Given the description of an element on the screen output the (x, y) to click on. 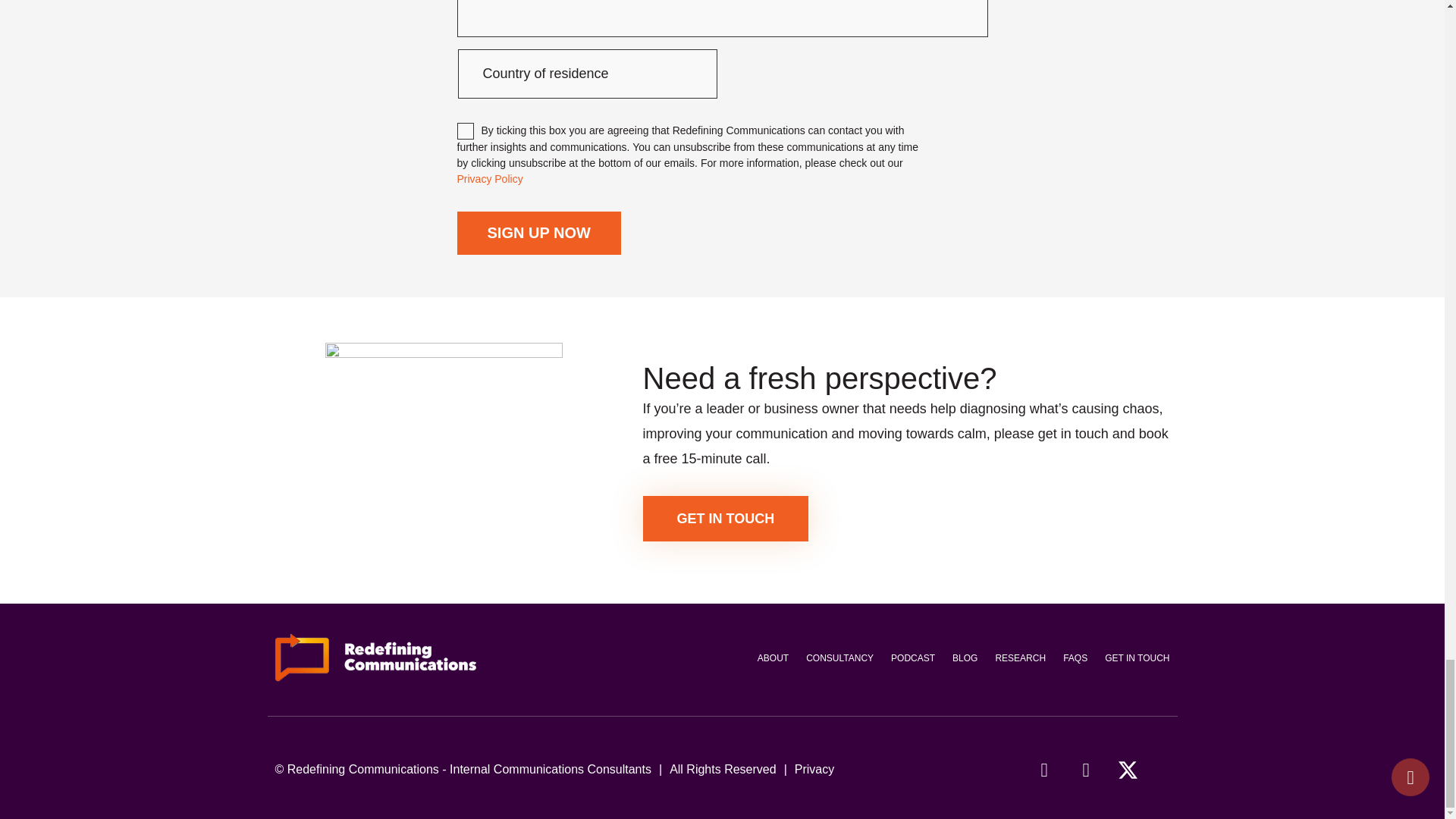
Sign up now (538, 232)
